Given the description of an element on the screen output the (x, y) to click on. 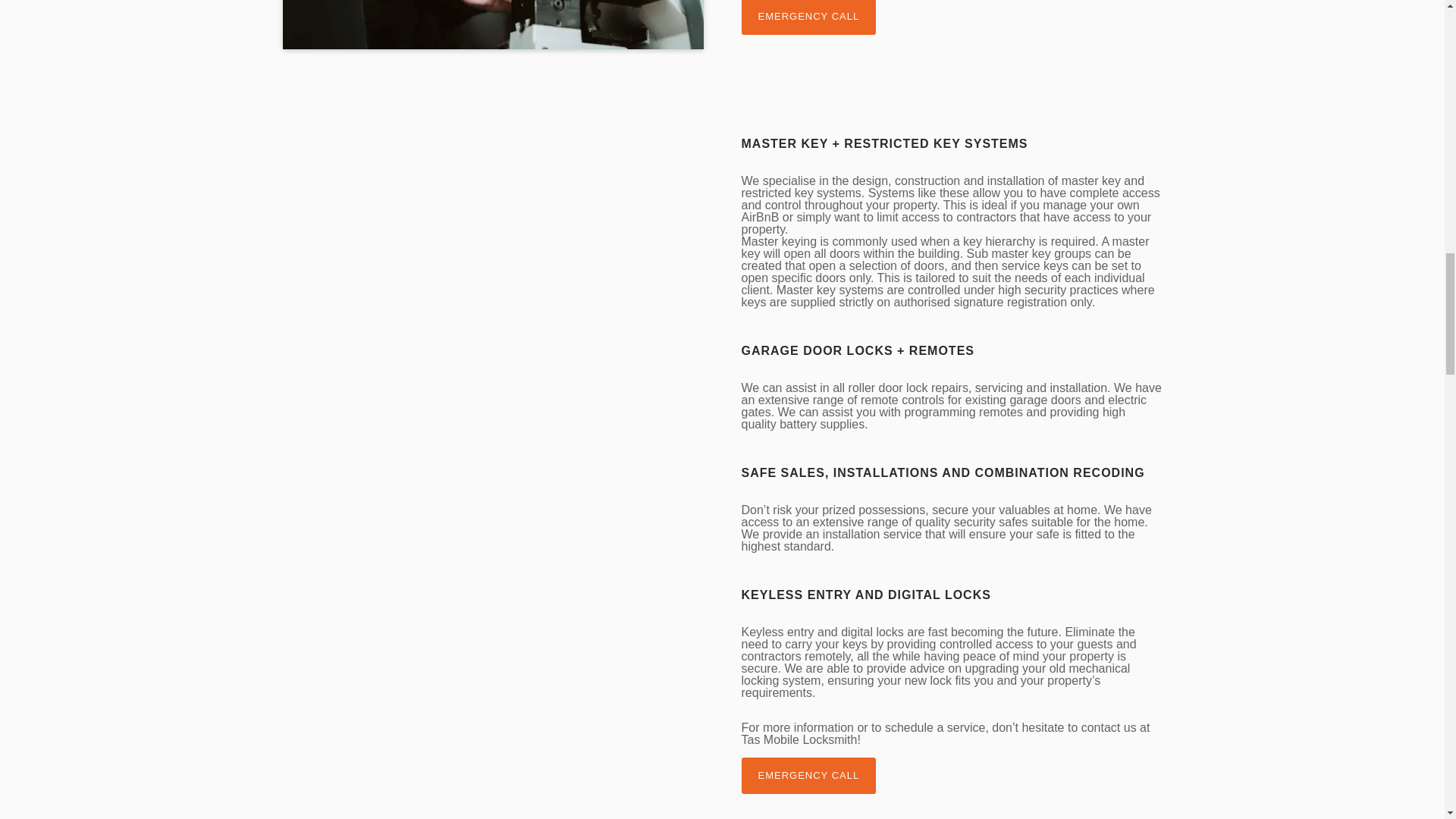
EMERGENCY CALL (808, 17)
EMERGENCY CALL (808, 775)
